Given the description of an element on the screen output the (x, y) to click on. 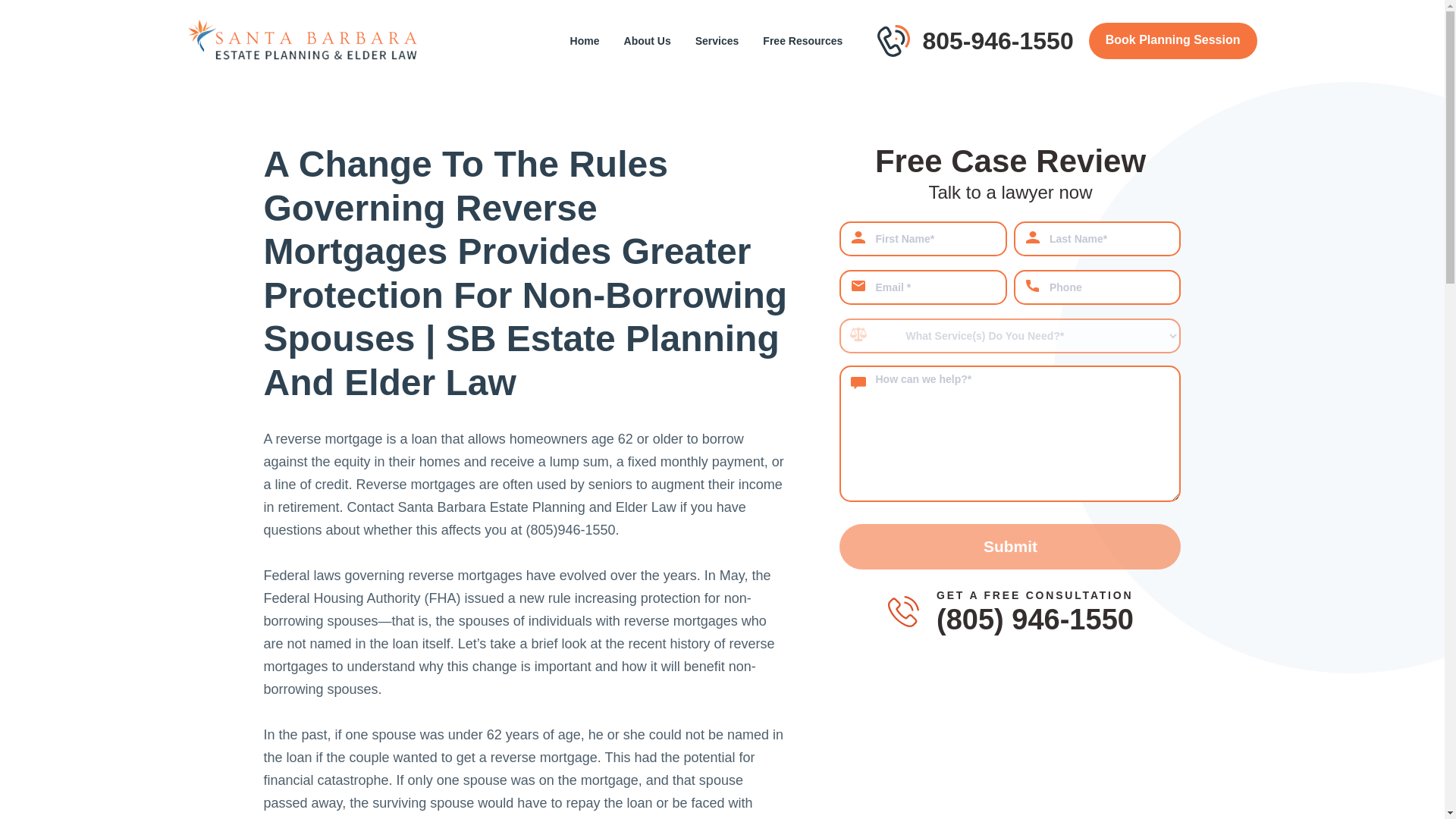
Submit (1010, 546)
Free Resources (802, 40)
Book Planning Session (1173, 40)
Services (717, 40)
805-946-1550 (997, 40)
Submit (1010, 546)
About Us (647, 40)
